Given the description of an element on the screen output the (x, y) to click on. 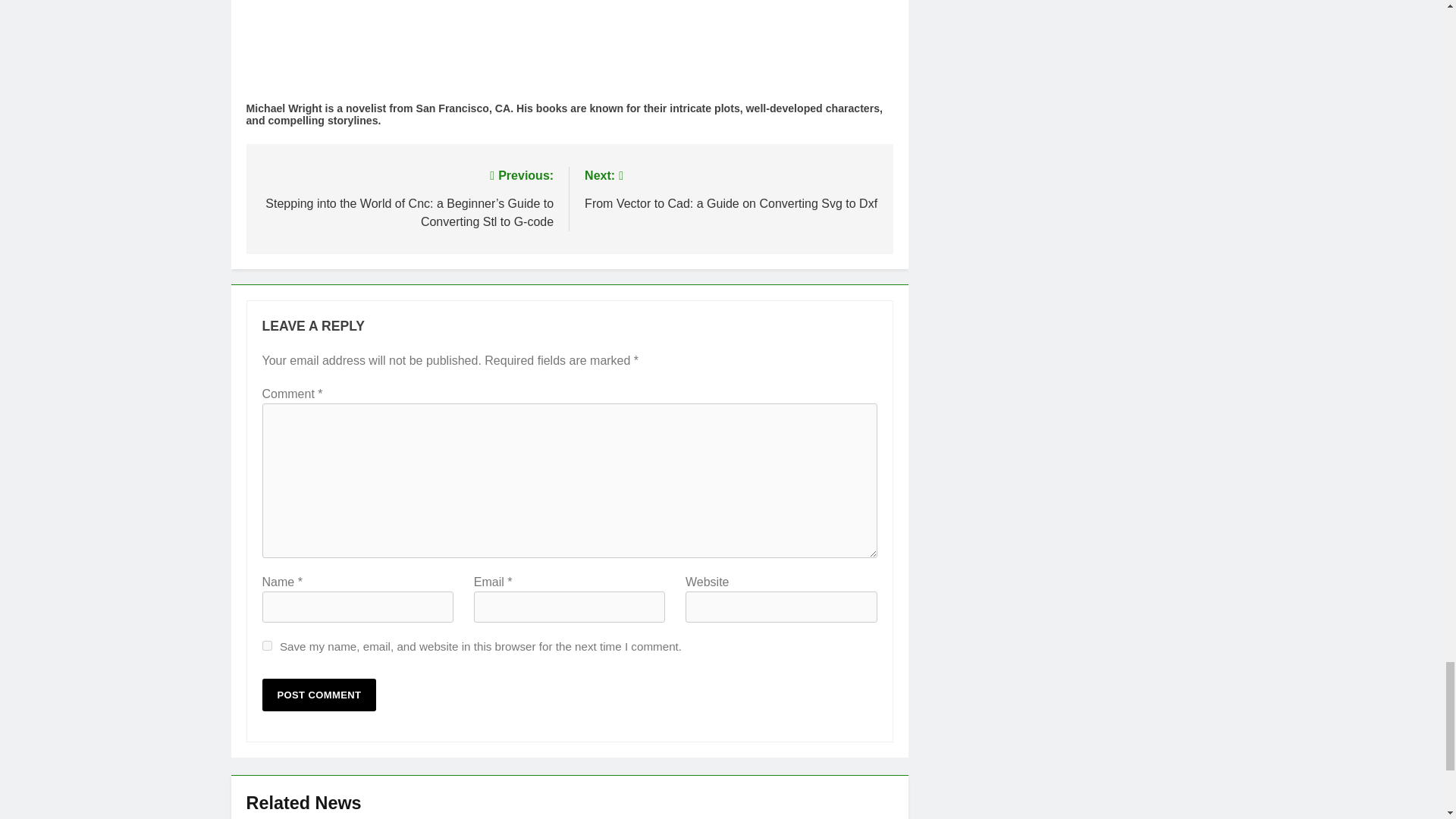
yes (267, 645)
Post Comment (319, 694)
